Given the description of an element on the screen output the (x, y) to click on. 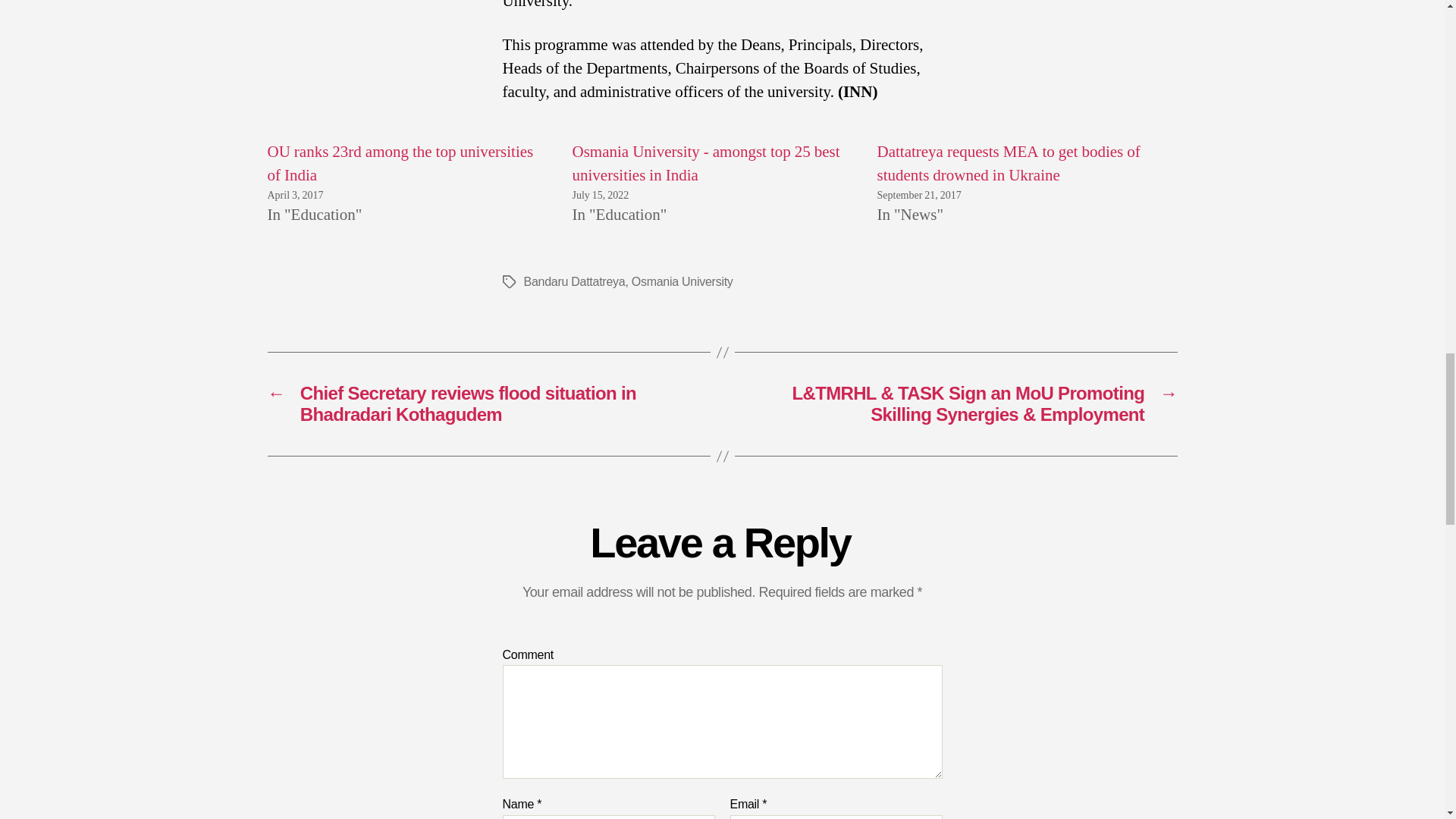
OU ranks 23rd among the top universities of India (399, 163)
Bandaru Dattatreya (573, 281)
Osmania University (682, 281)
OU ranks 23rd among the top universities of India (399, 163)
